Given the description of an element on the screen output the (x, y) to click on. 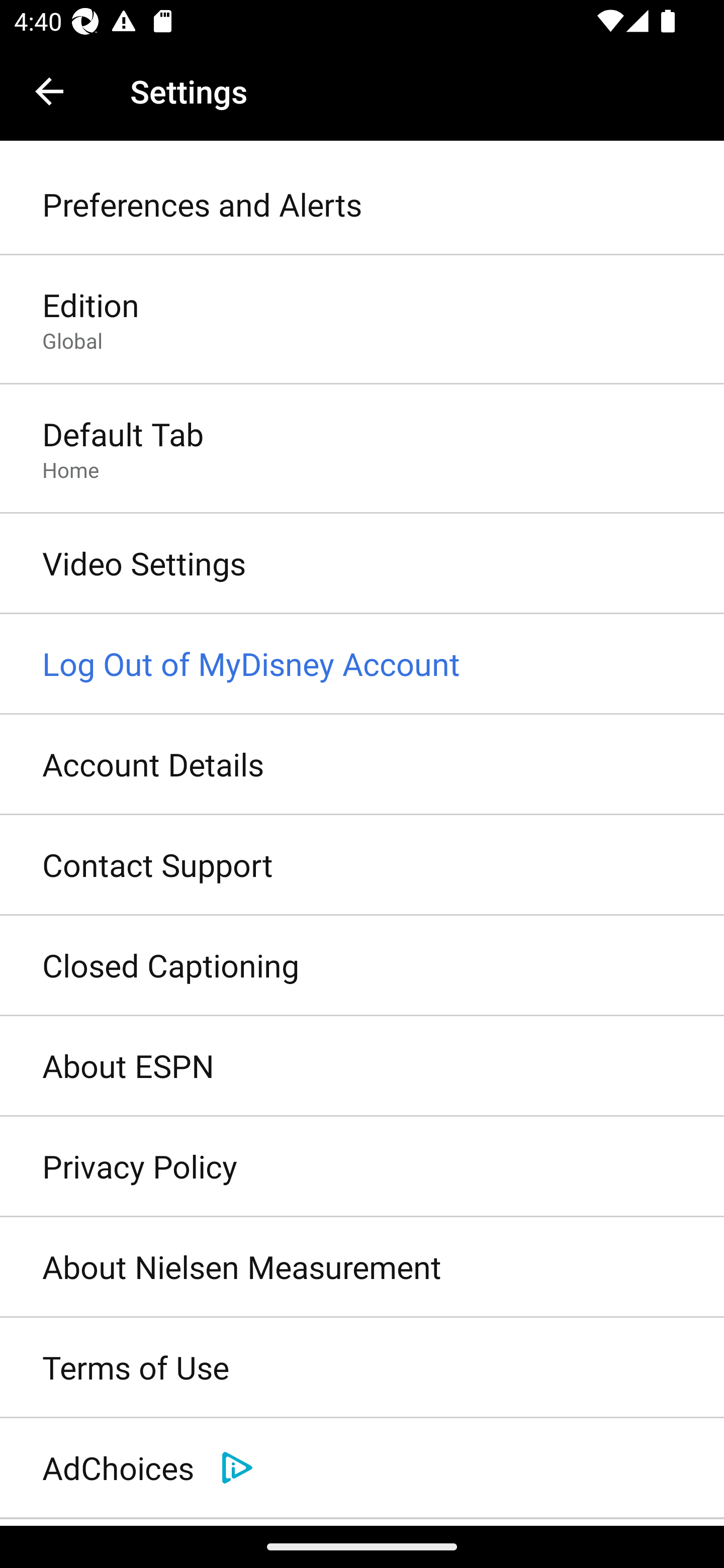
Navigate up (49, 91)
Preferences and Alerts (362, 205)
Edition Global (362, 320)
Default Tab Home (362, 449)
Video Settings (362, 564)
Log Out of MyDisney Account (362, 664)
Account Details (362, 765)
Contact Support (362, 865)
Closed Captioning (362, 965)
About ESPN (362, 1066)
Privacy Policy (362, 1167)
About Nielsen Measurement (362, 1267)
Terms of Use (362, 1368)
AdChoices (362, 1468)
